Given the description of an element on the screen output the (x, y) to click on. 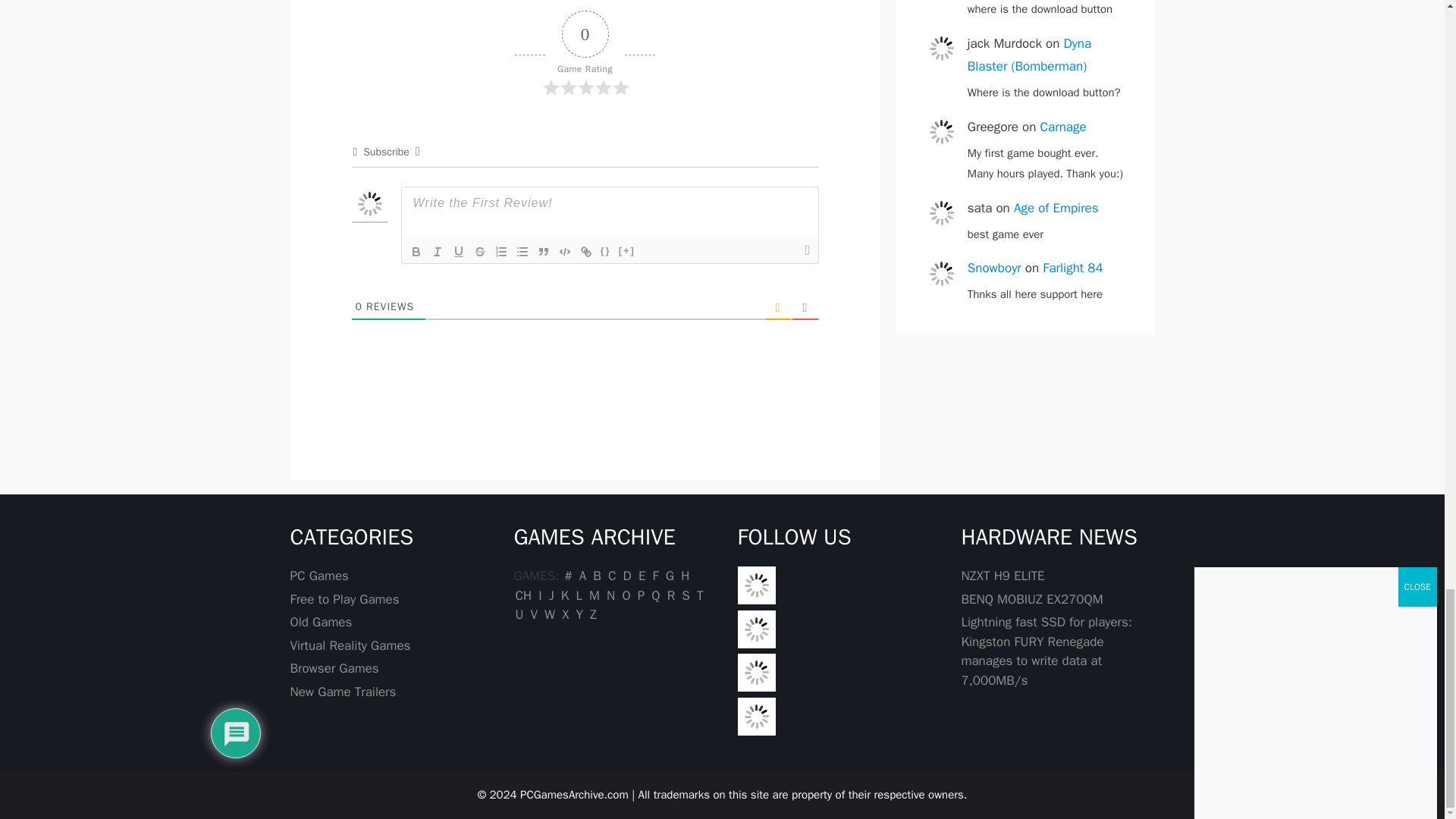
Source Code (604, 251)
Italic (436, 251)
Blockquote (542, 251)
Bold (415, 251)
Underline (457, 251)
Spoiler (626, 251)
Unordered List (521, 251)
Strike (478, 251)
Link (585, 251)
Ordered List (500, 251)
Code Block (564, 251)
